Given the description of an element on the screen output the (x, y) to click on. 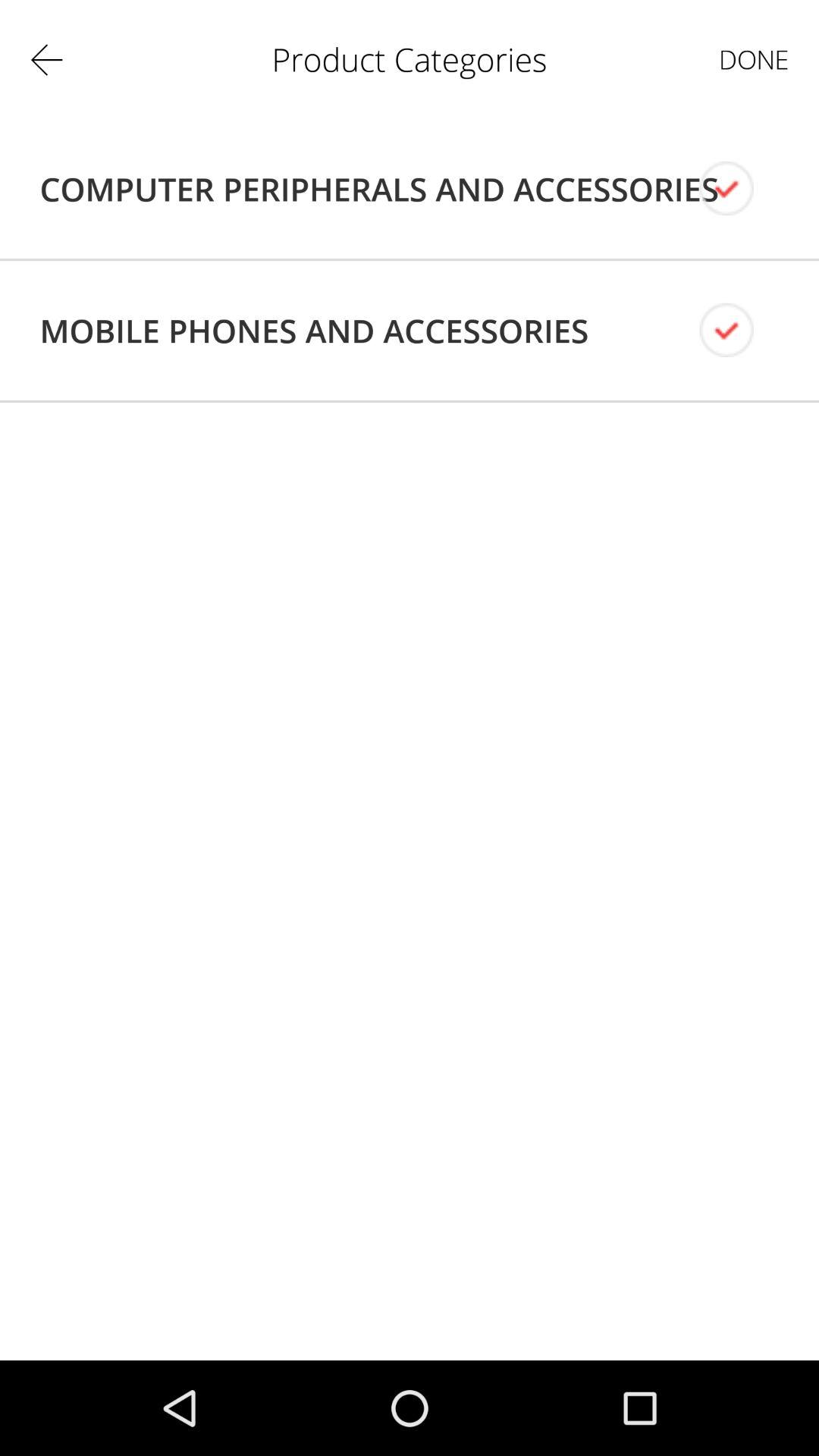
view menu inside (739, 188)
